Given the description of an element on the screen output the (x, y) to click on. 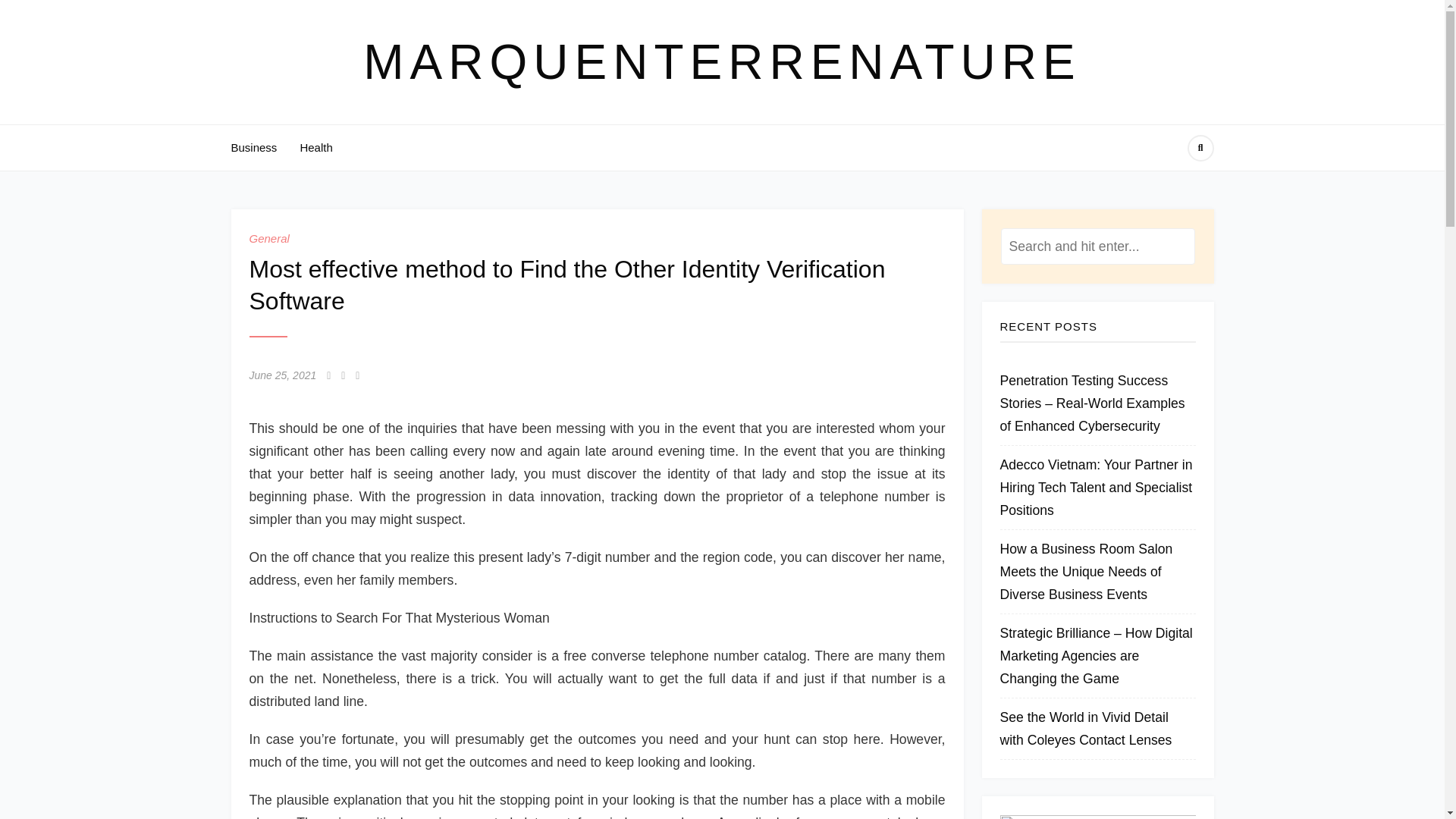
MARQUENTERRENATURE (721, 61)
June 25, 2021 (281, 375)
Business (253, 147)
See the World in Vivid Detail with Coleyes Contact Lenses (1085, 728)
General (268, 237)
